Given the description of an element on the screen output the (x, y) to click on. 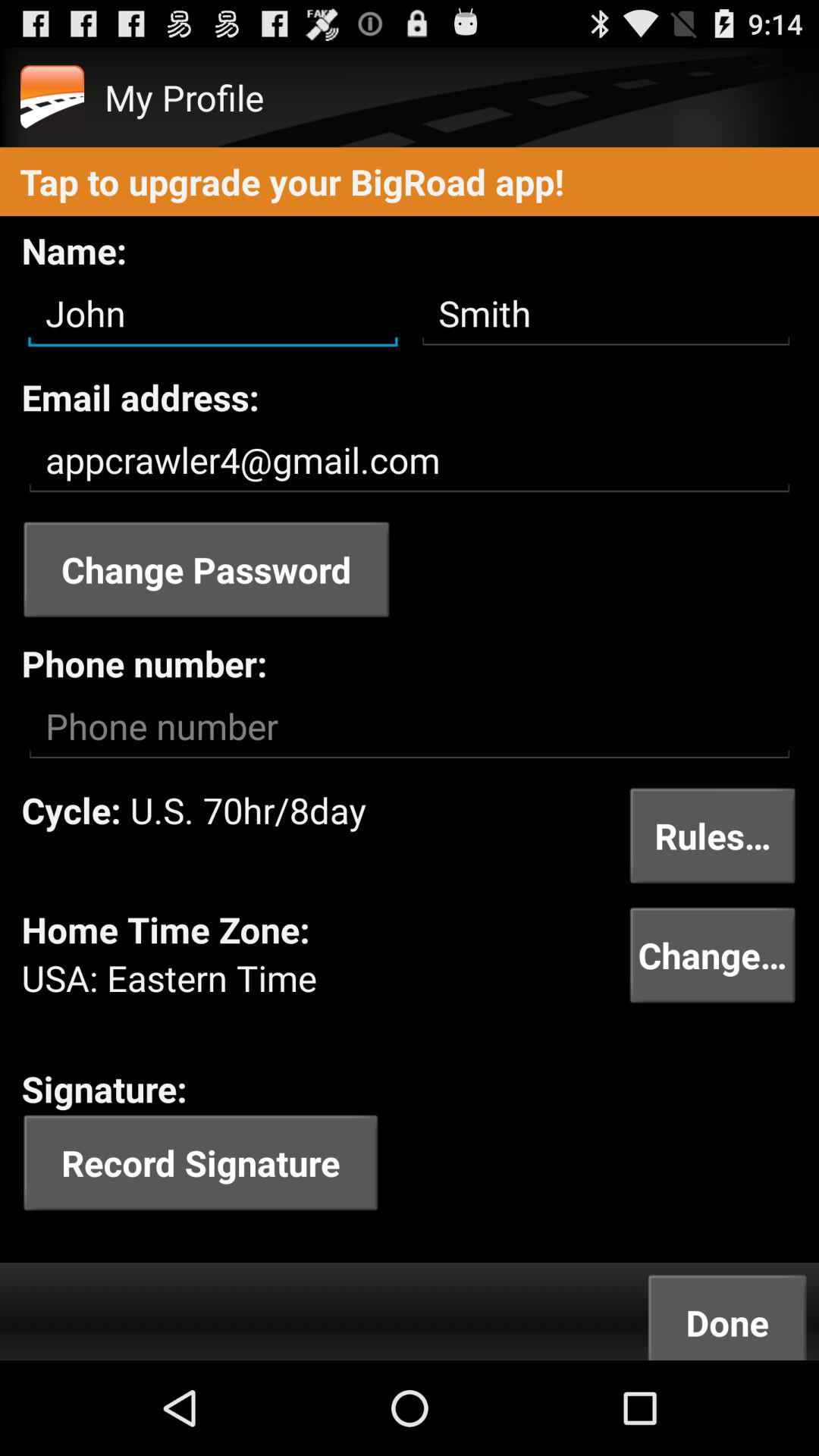
opens keyboard to type (409, 726)
